Given the description of an element on the screen output the (x, y) to click on. 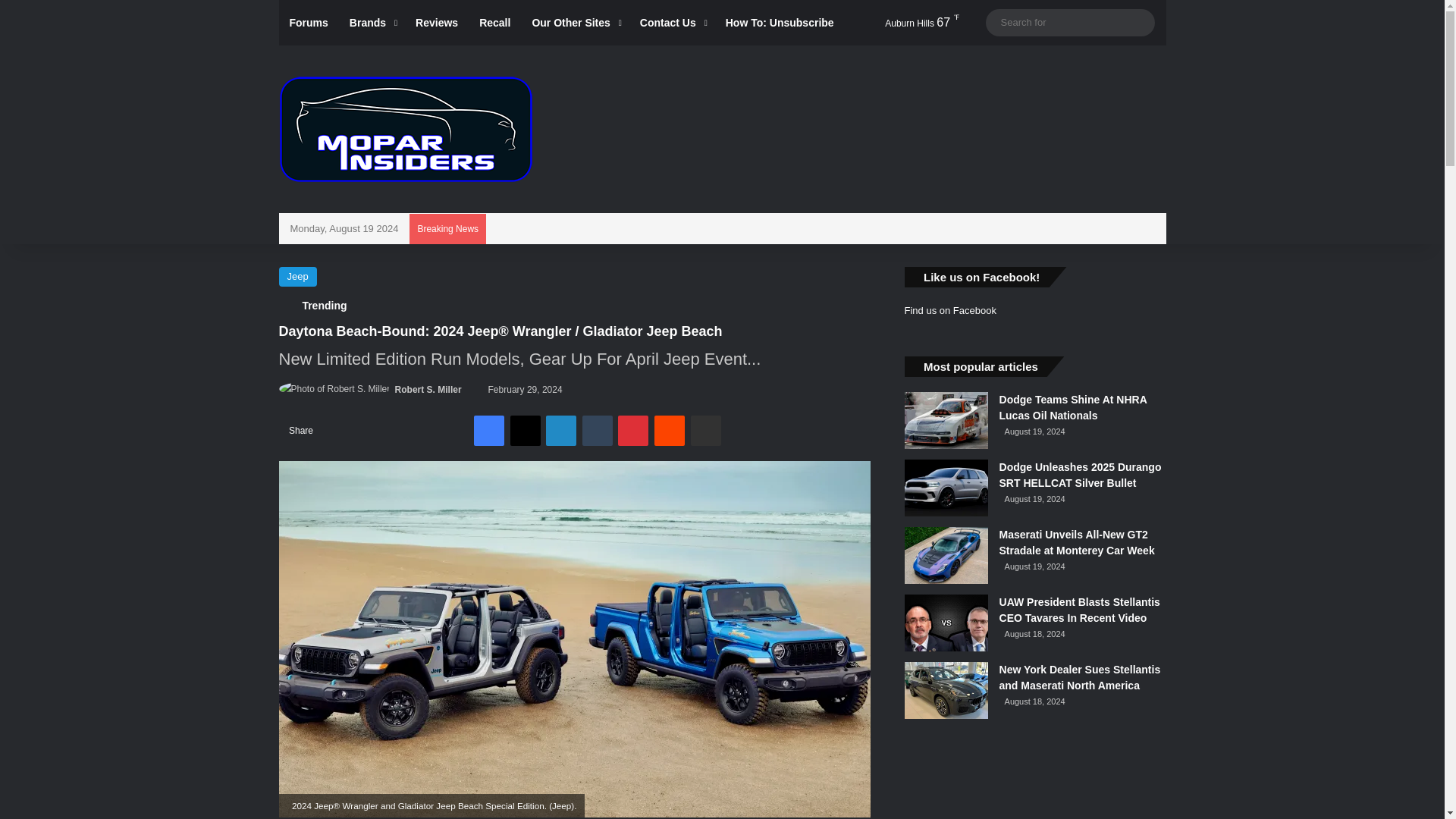
Tumblr (597, 430)
Reddit (668, 430)
Brands (371, 22)
Contact Us (671, 22)
MoparInsiders (405, 129)
Share via Email (705, 430)
Pinterest (632, 430)
Search for (1139, 22)
Scattered Clouds (907, 22)
Robert S. Miller (427, 389)
